Given the description of an element on the screen output the (x, y) to click on. 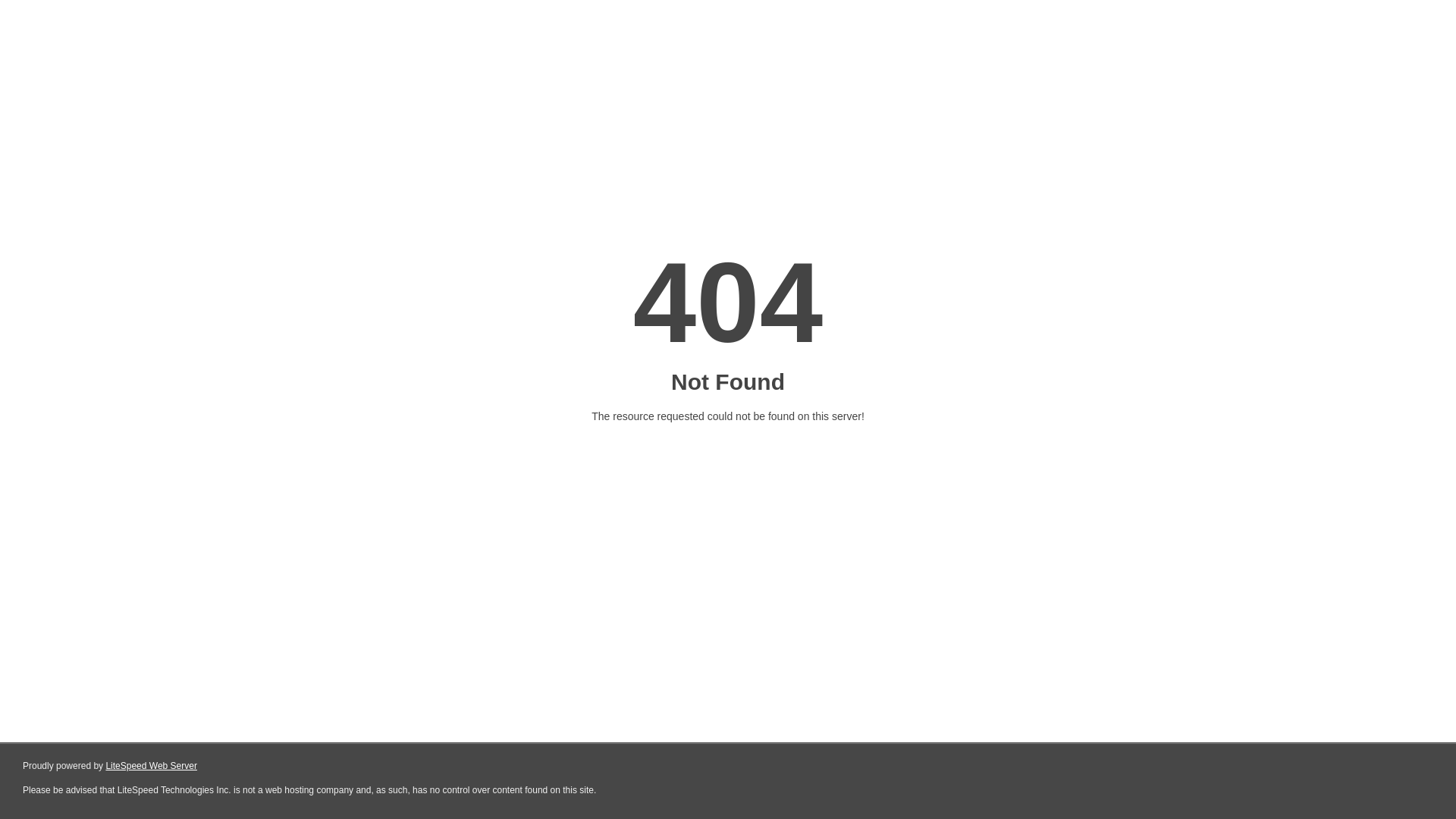
LiteSpeed Web Server Element type: text (151, 765)
